Given the description of an element on the screen output the (x, y) to click on. 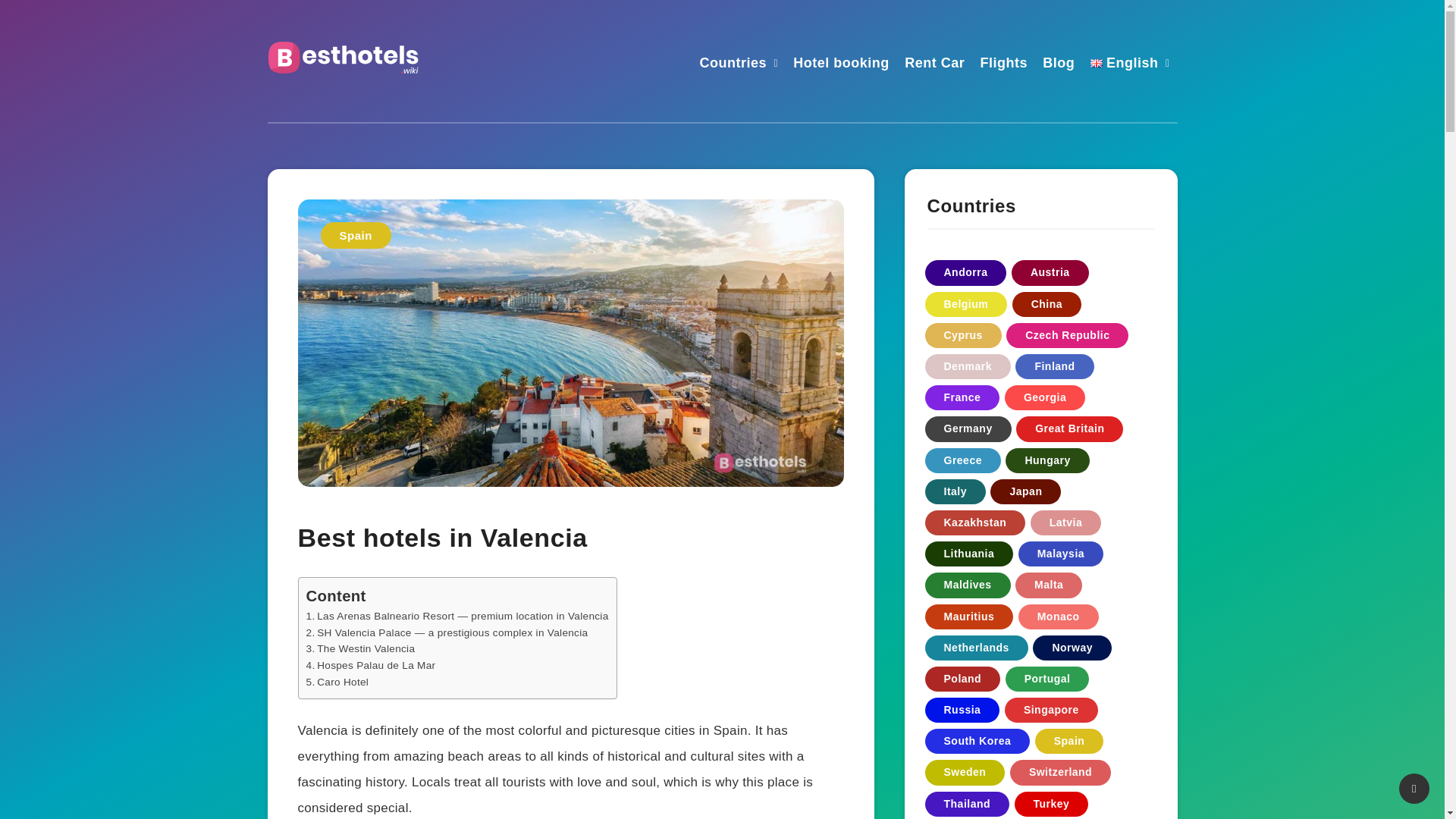
The Westin Valencia (359, 648)
Caro Hotel (337, 681)
Hospes Palau de La Mar (370, 665)
Countries (732, 64)
